Given the description of an element on the screen output the (x, y) to click on. 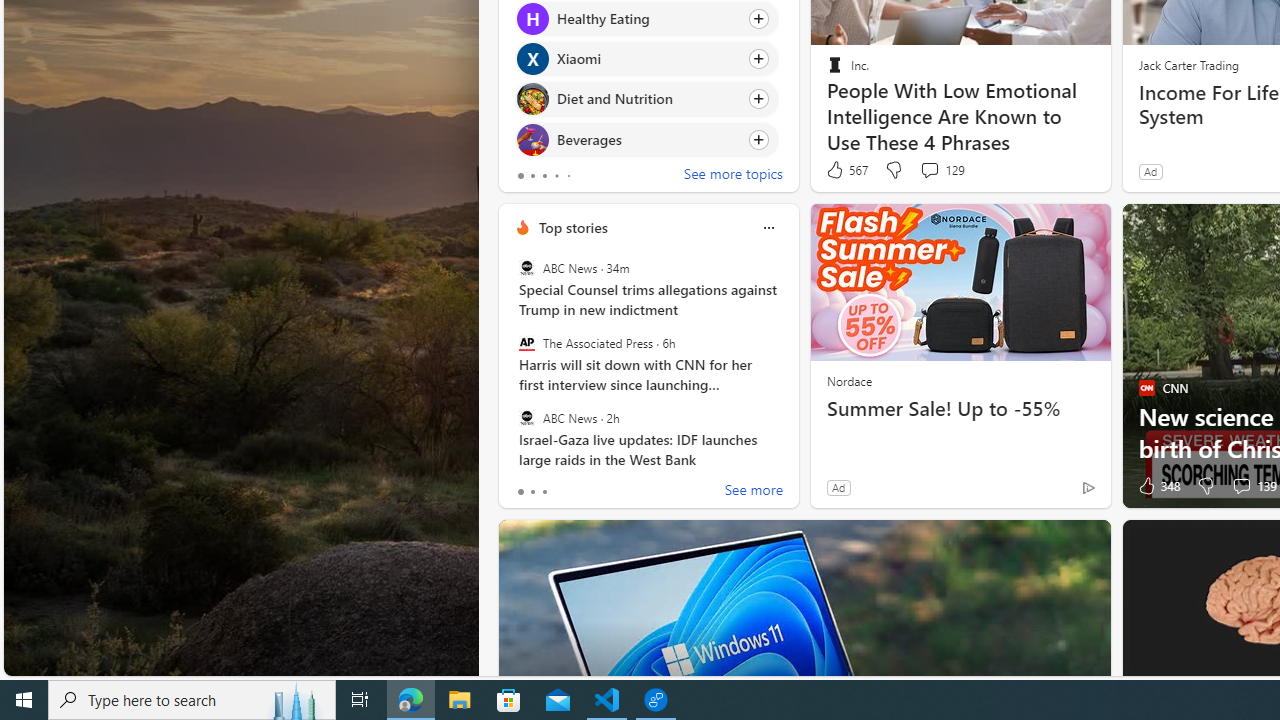
tab-3 (556, 175)
Class: icon-img (768, 228)
348 Like (1157, 485)
Summer Sale! Up to -55% (959, 408)
Click to follow topic Healthy Eating (646, 18)
Beverages (532, 139)
View comments 139 Comment (1241, 485)
tab-0 (520, 491)
See more topics (733, 175)
Click to follow topic Diet and Nutrition (646, 99)
View comments 129 Comment (941, 170)
